Given the description of an element on the screen output the (x, y) to click on. 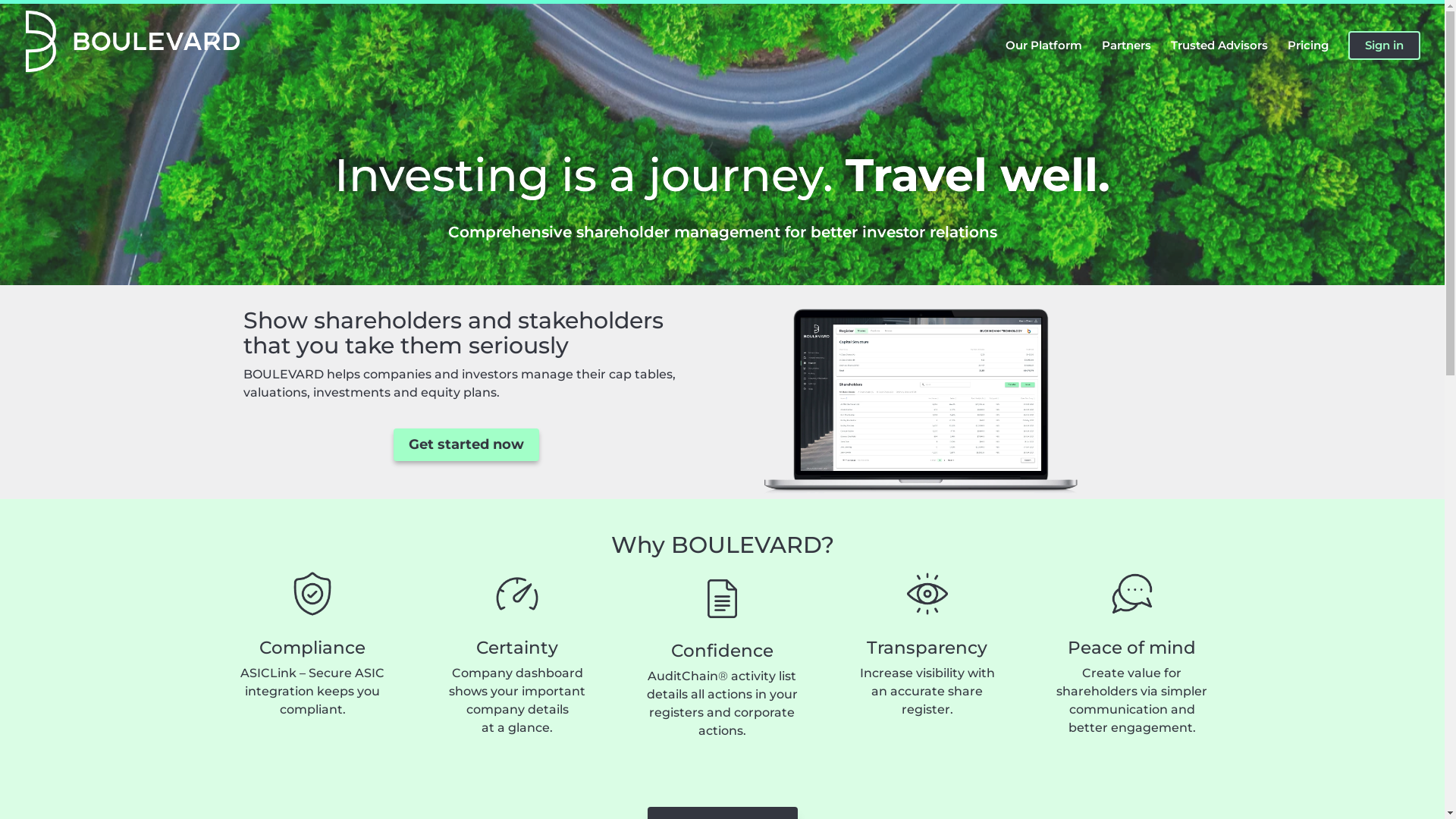
Sign in Element type: text (1384, 45)
Pricing Element type: text (1307, 60)
register on laptop Element type: hover (921, 404)
Trusted Advisors Element type: text (1218, 60)
Partners Element type: text (1126, 60)
Get started now Element type: text (466, 444)
Our Platform Element type: text (1043, 60)
